Given the description of an element on the screen output the (x, y) to click on. 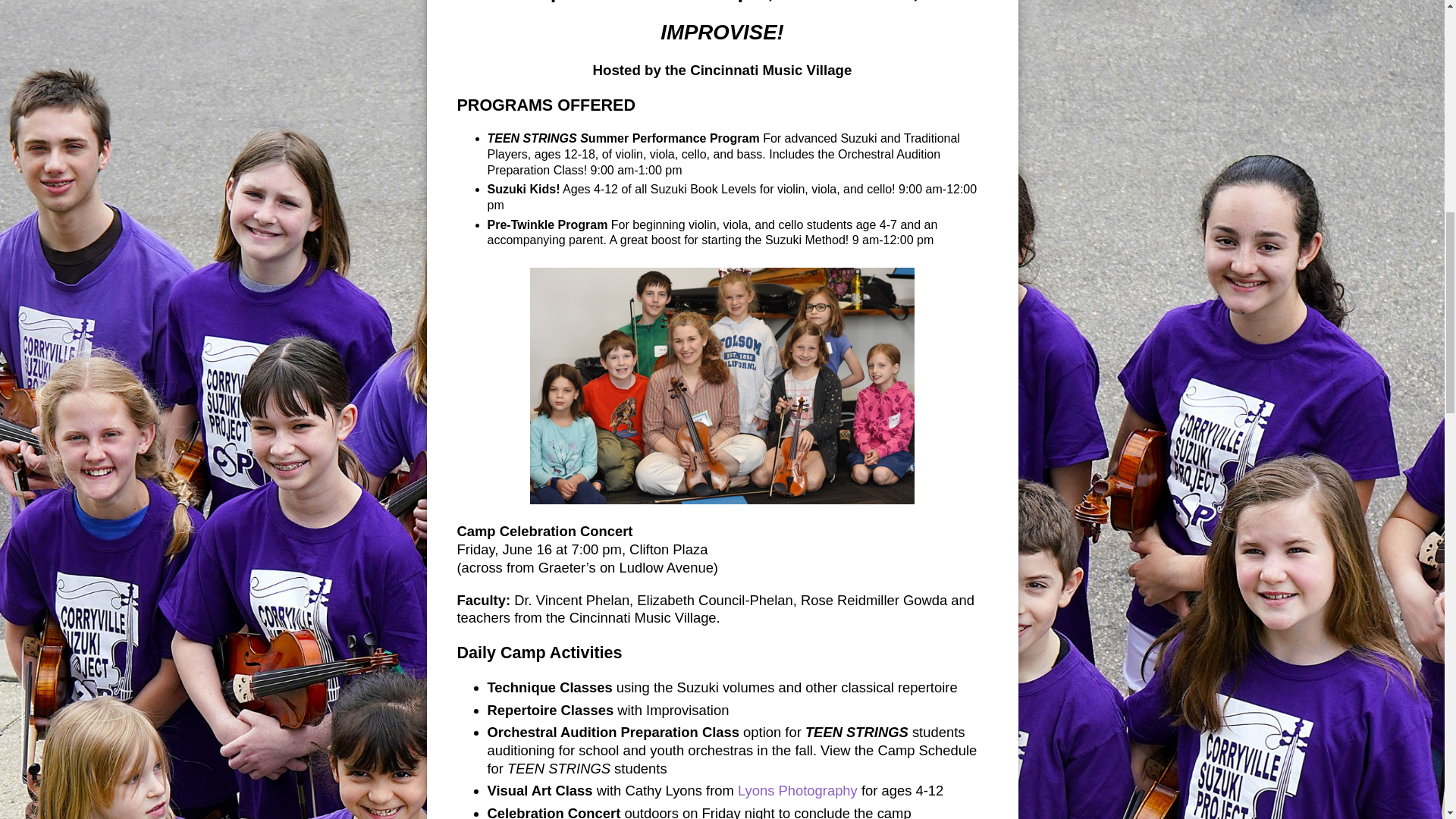
Camp Schedule for TEEN STRINGS students (731, 759)
Lyons Photography (797, 790)
